Given the description of an element on the screen output the (x, y) to click on. 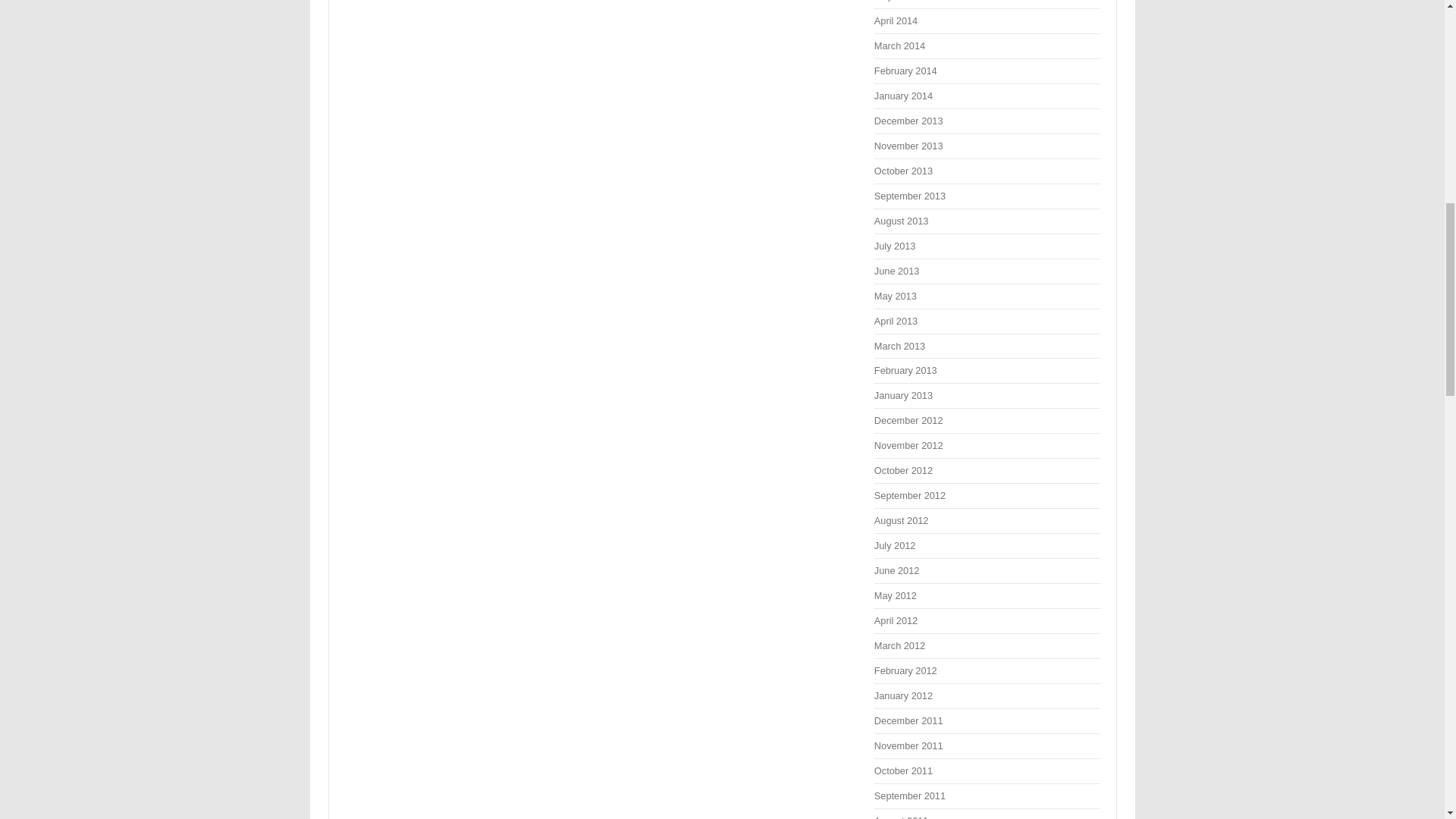
September 2012 (909, 495)
October 2012 (904, 470)
May 2013 (896, 296)
January 2014 (904, 95)
January 2013 (904, 395)
February 2014 (906, 70)
September 2013 (909, 195)
July 2013 (895, 245)
June 2013 (896, 270)
February 2013 (906, 369)
